Given the description of an element on the screen output the (x, y) to click on. 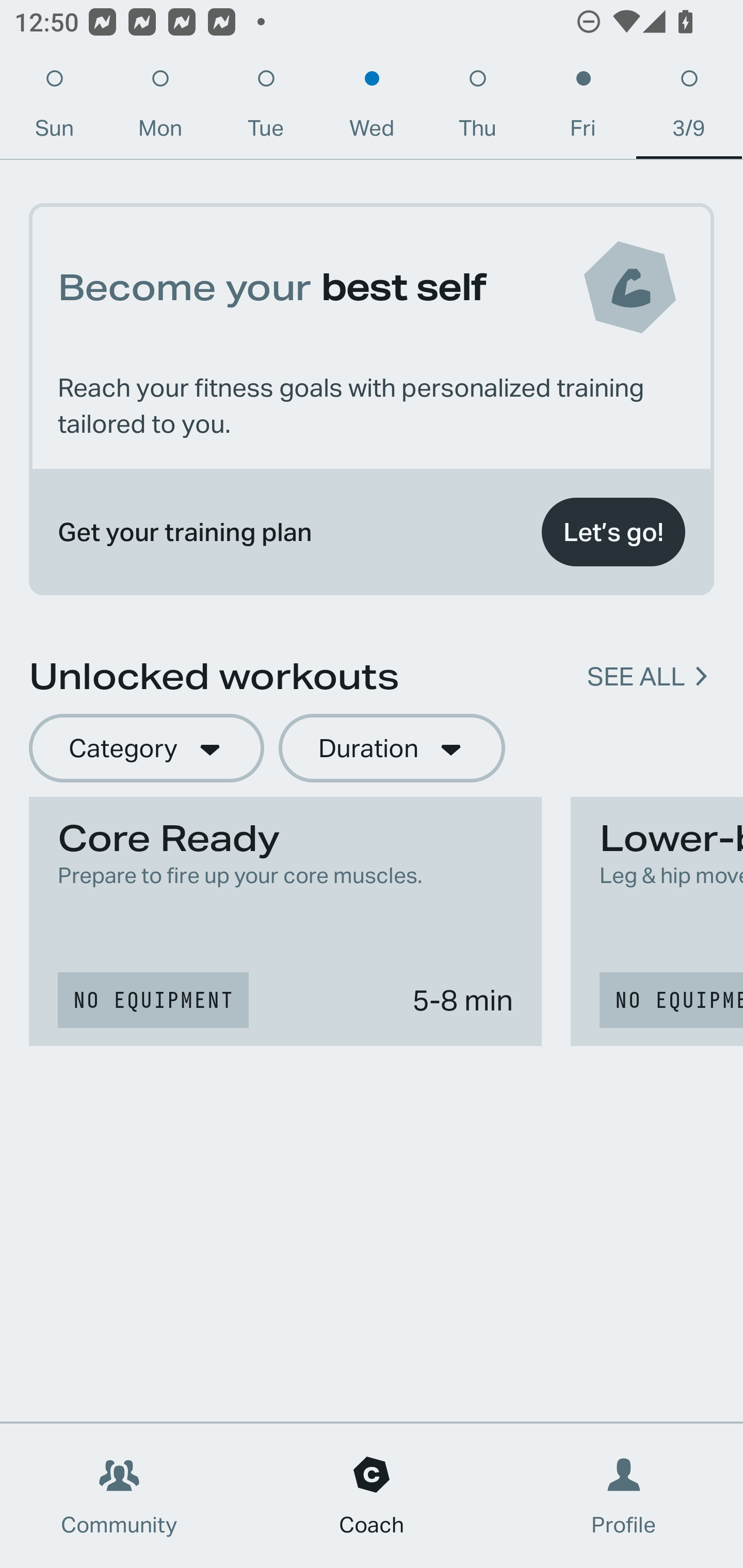
Sun (53, 108)
Mon (159, 108)
Tue (265, 108)
Wed (371, 108)
Thu (477, 108)
Fri (583, 108)
3/9 (689, 108)
Let’s go! (613, 532)
SEE ALL (635, 676)
Category (146, 748)
Duration (391, 748)
Community (119, 1495)
Profile (624, 1495)
